Given the description of an element on the screen output the (x, y) to click on. 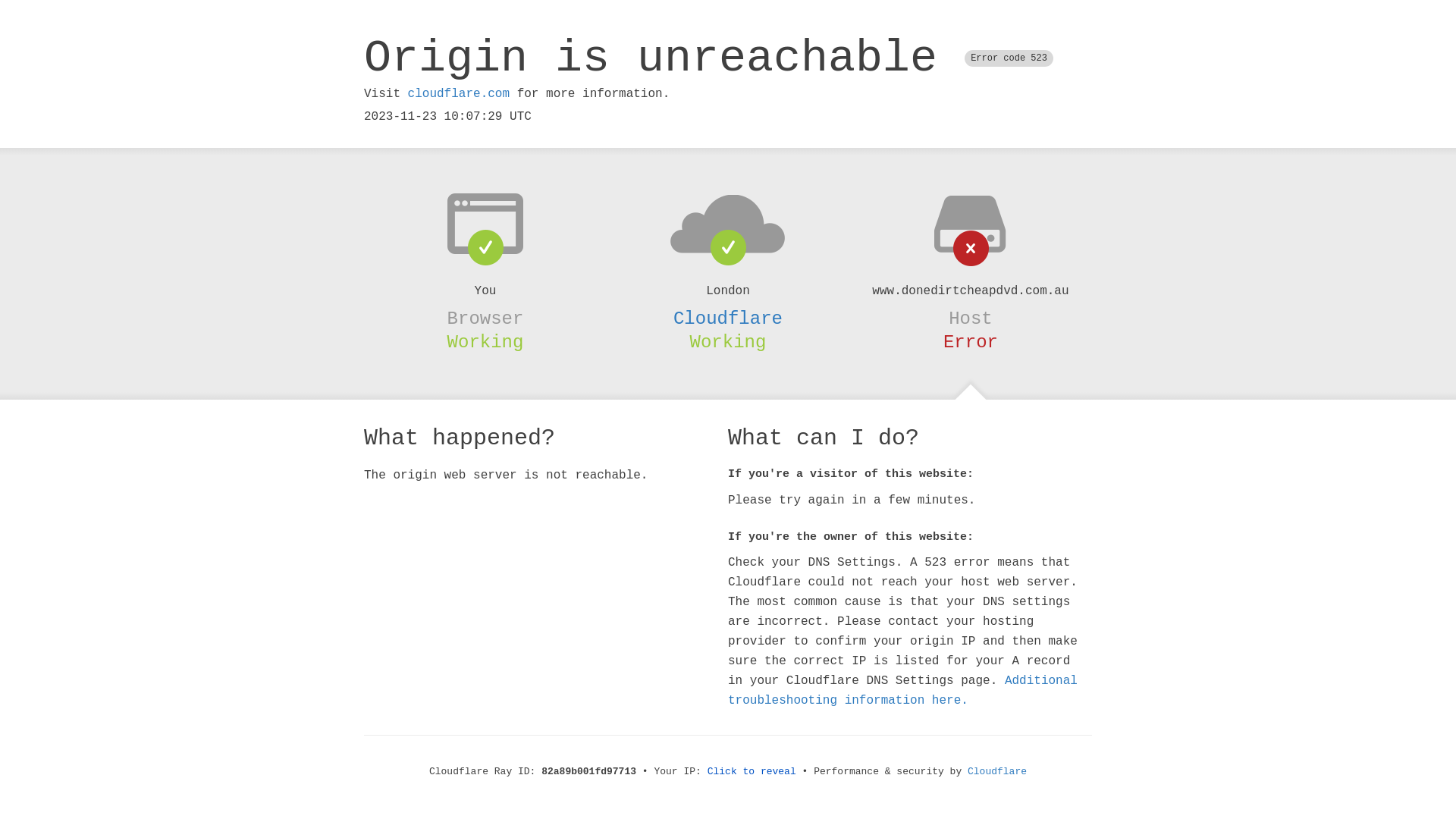
cloudflare.com Element type: text (458, 93)
Cloudflare Element type: text (727, 318)
Cloudflare Element type: text (996, 771)
Click to reveal Element type: text (751, 771)
Additional troubleshooting information here. Element type: text (902, 690)
